Given the description of an element on the screen output the (x, y) to click on. 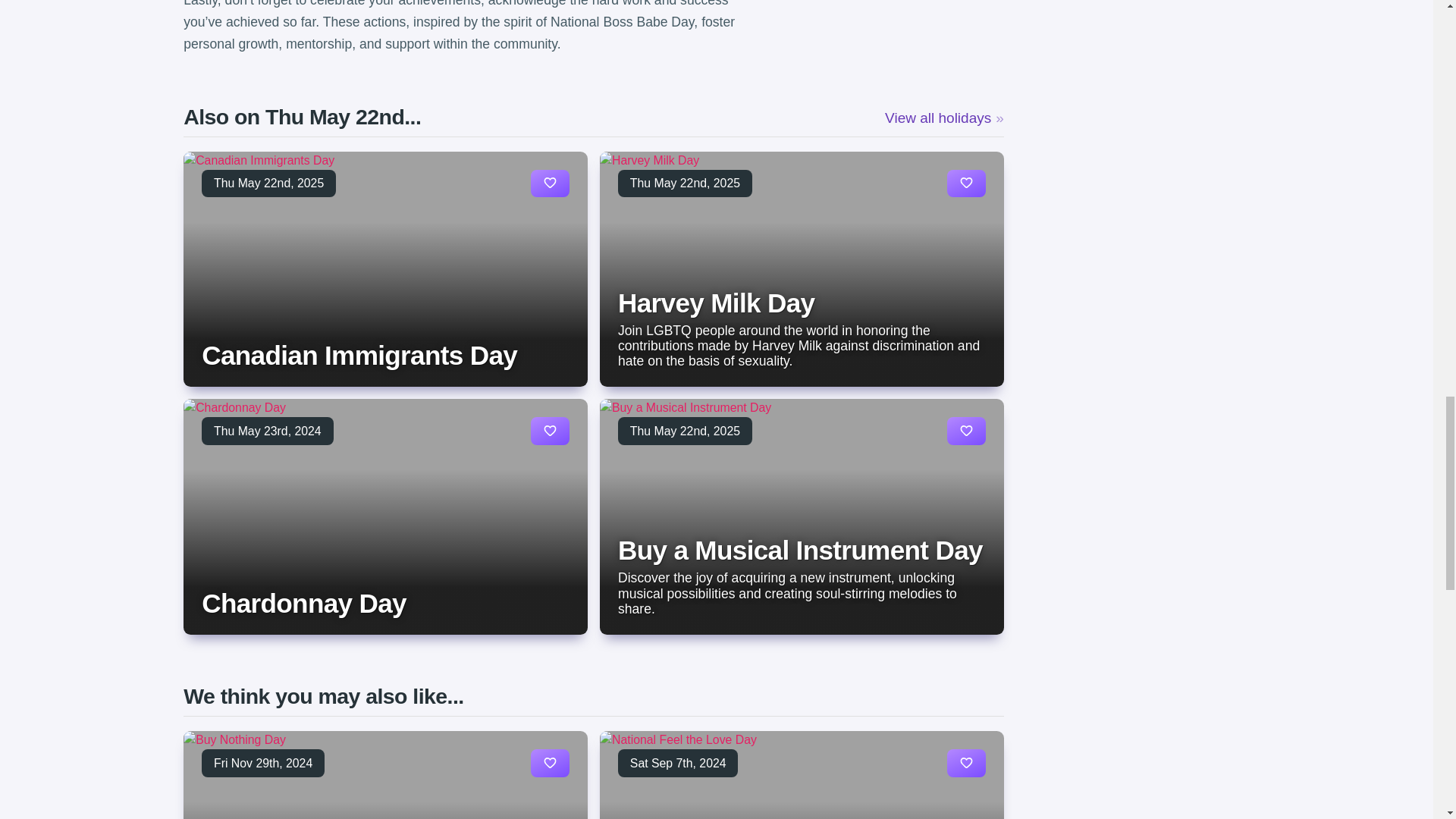
Harvey Milk Day (715, 302)
View all holidays (944, 118)
Canadian Immigrants Day (359, 355)
Buy a Musical Instrument Day (799, 550)
Chardonnay Day (304, 603)
